Given the description of an element on the screen output the (x, y) to click on. 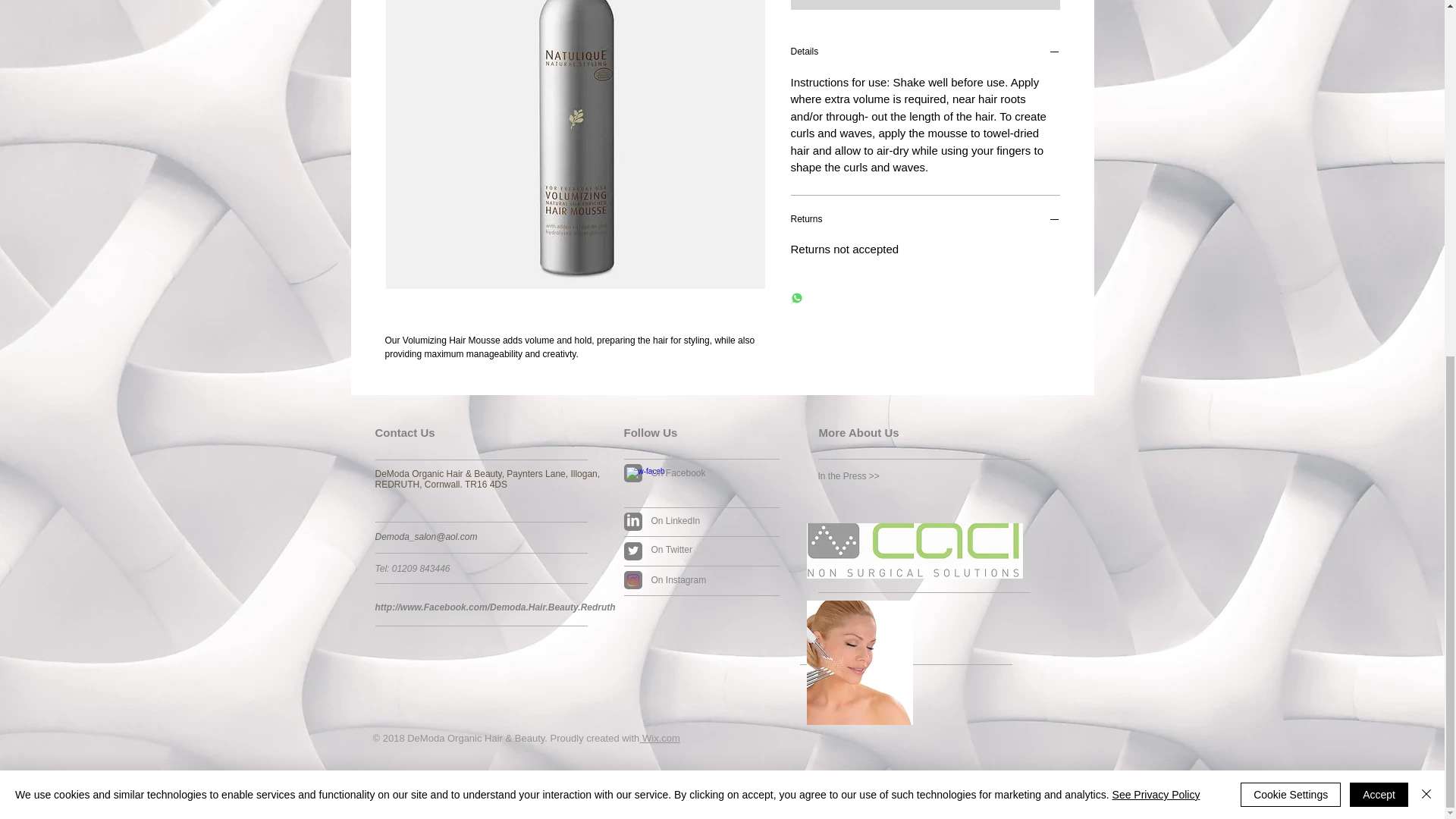
Add to Cart (924, 5)
Details (924, 53)
On Facebook (710, 473)
Returns (924, 221)
